Given the description of an element on the screen output the (x, y) to click on. 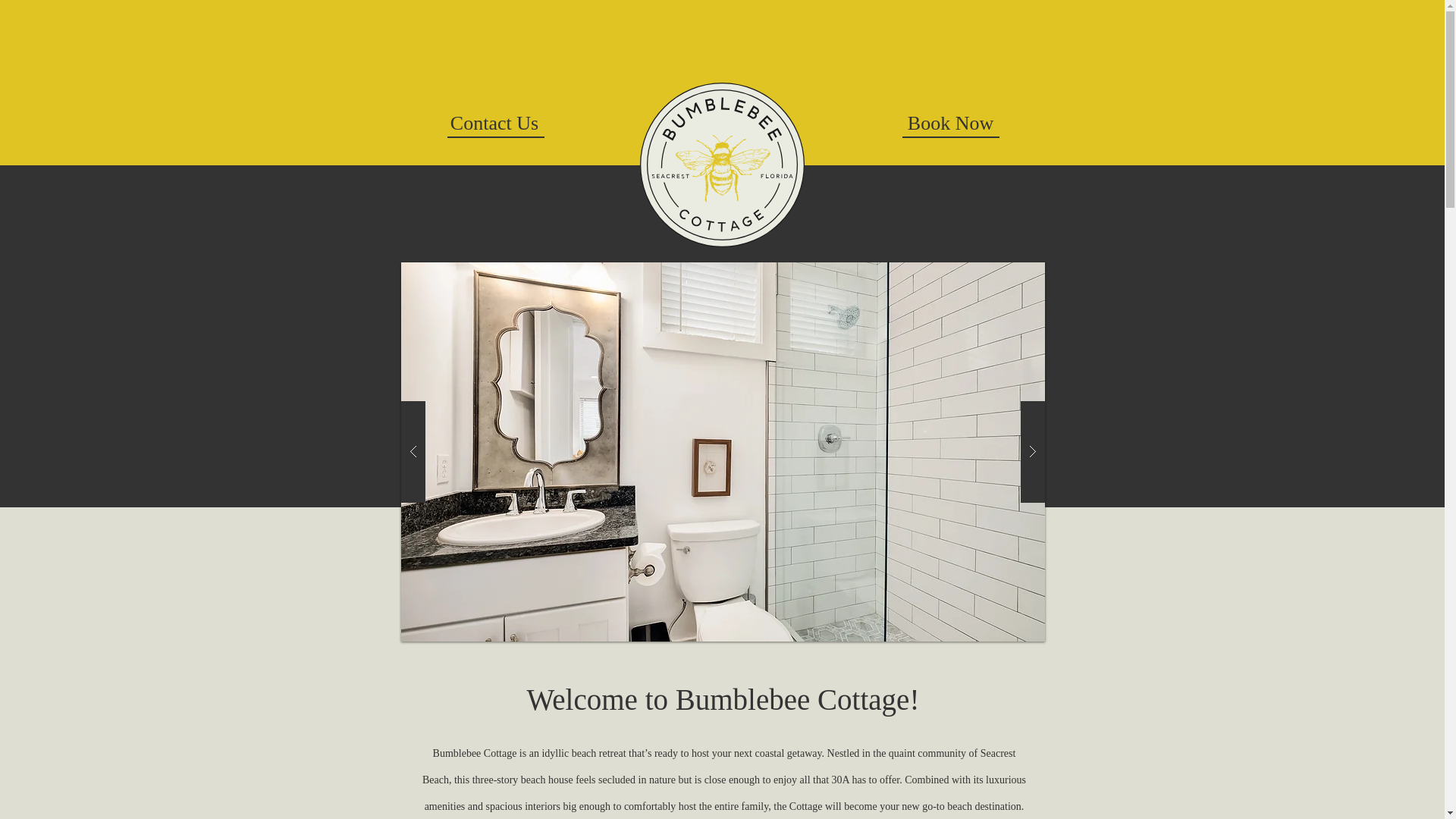
Book Now Element type: text (964, 138)
Contact Us Element type: text (493, 123)
Contact Us Element type: text (508, 138)
Book Now Element type: text (950, 123)
